Given the description of an element on the screen output the (x, y) to click on. 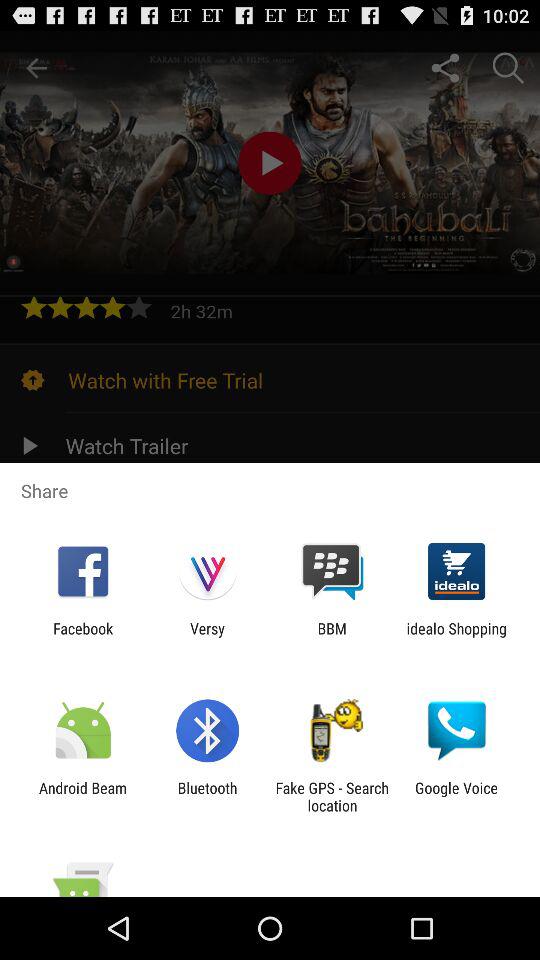
launch android beam (83, 796)
